Given the description of an element on the screen output the (x, y) to click on. 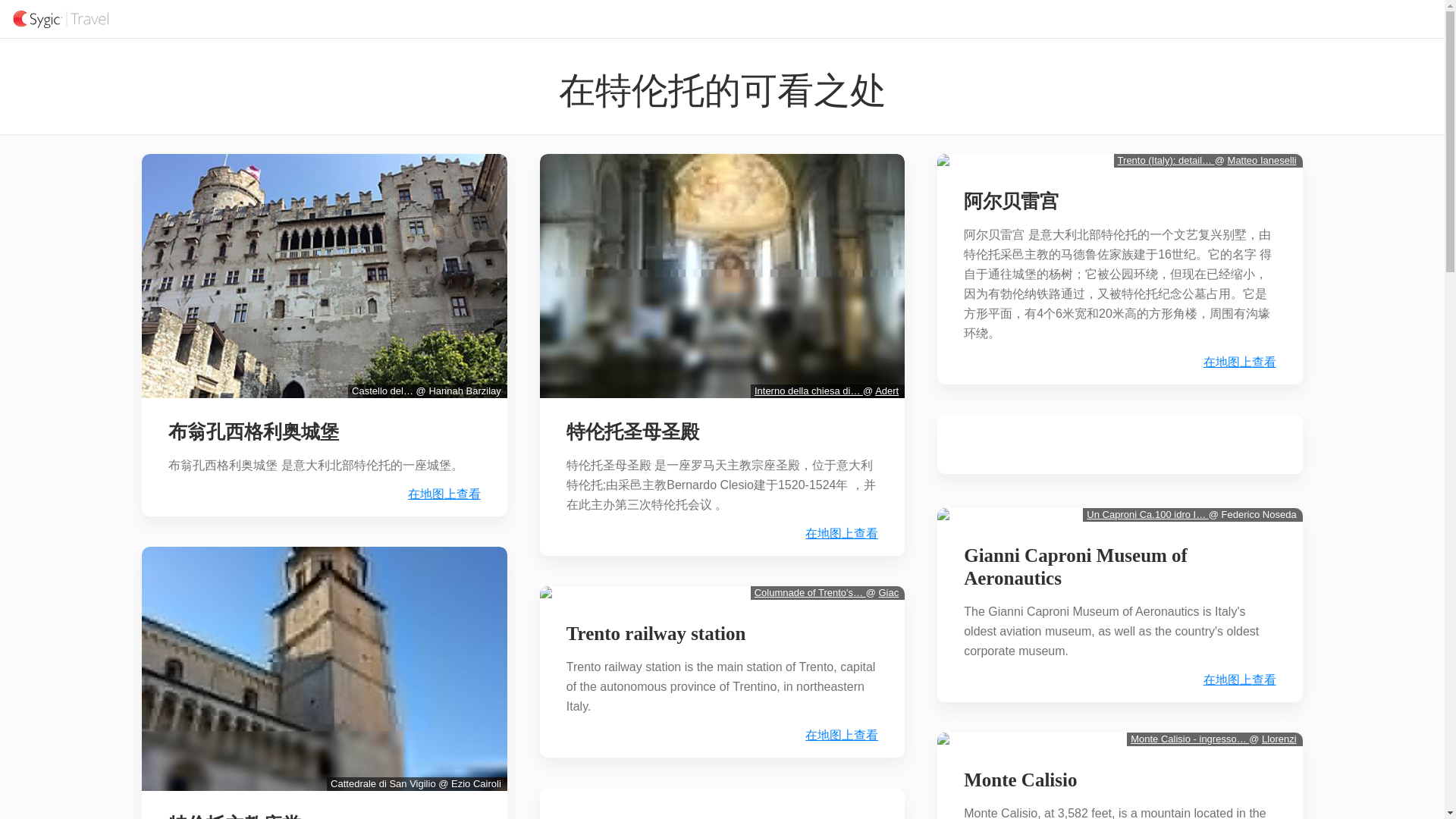
Giac (887, 592)
Trento railway station (656, 633)
Adert (886, 390)
